Given the description of an element on the screen output the (x, y) to click on. 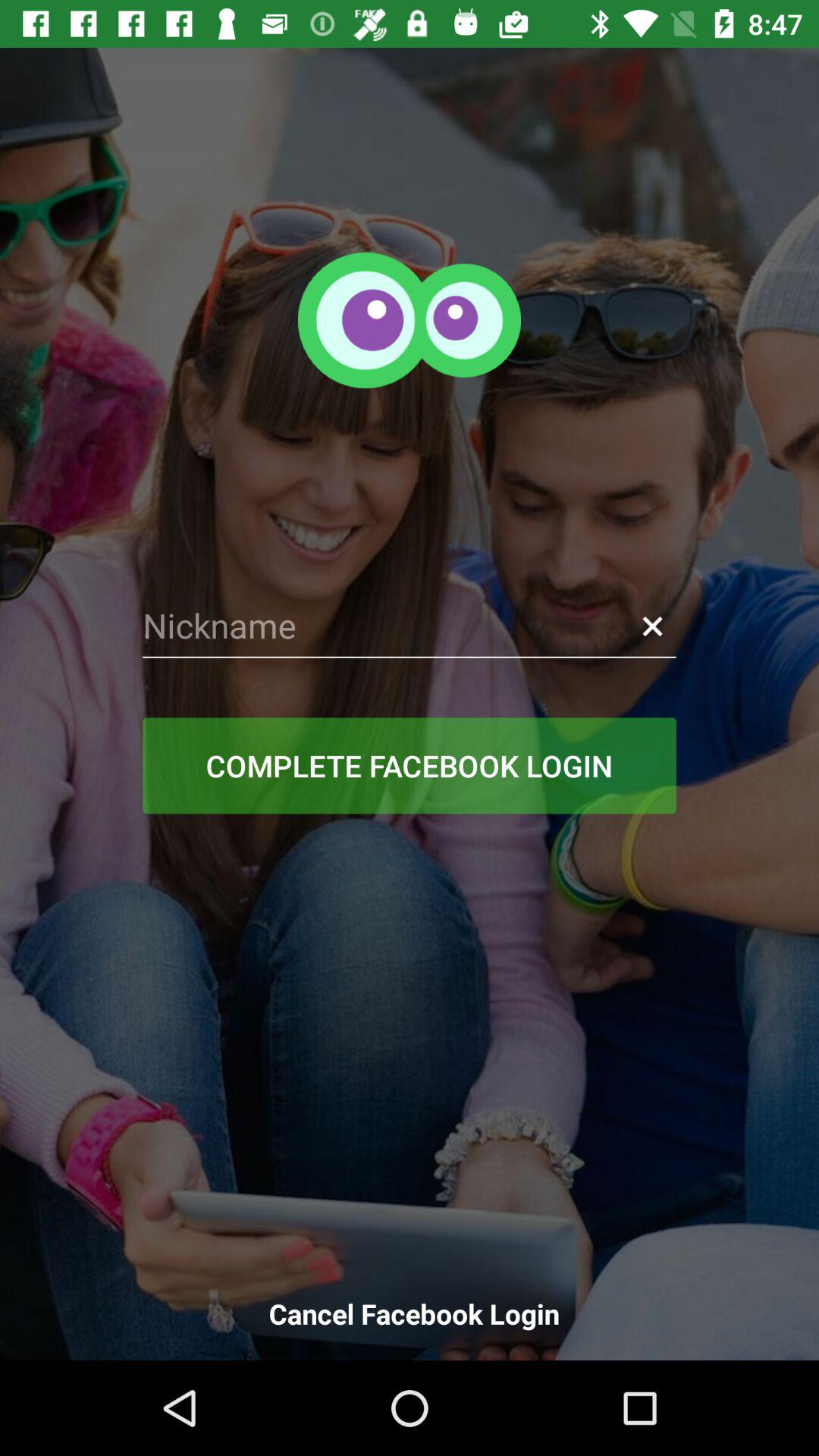
clear nickname textbox (652, 626)
